Given the description of an element on the screen output the (x, y) to click on. 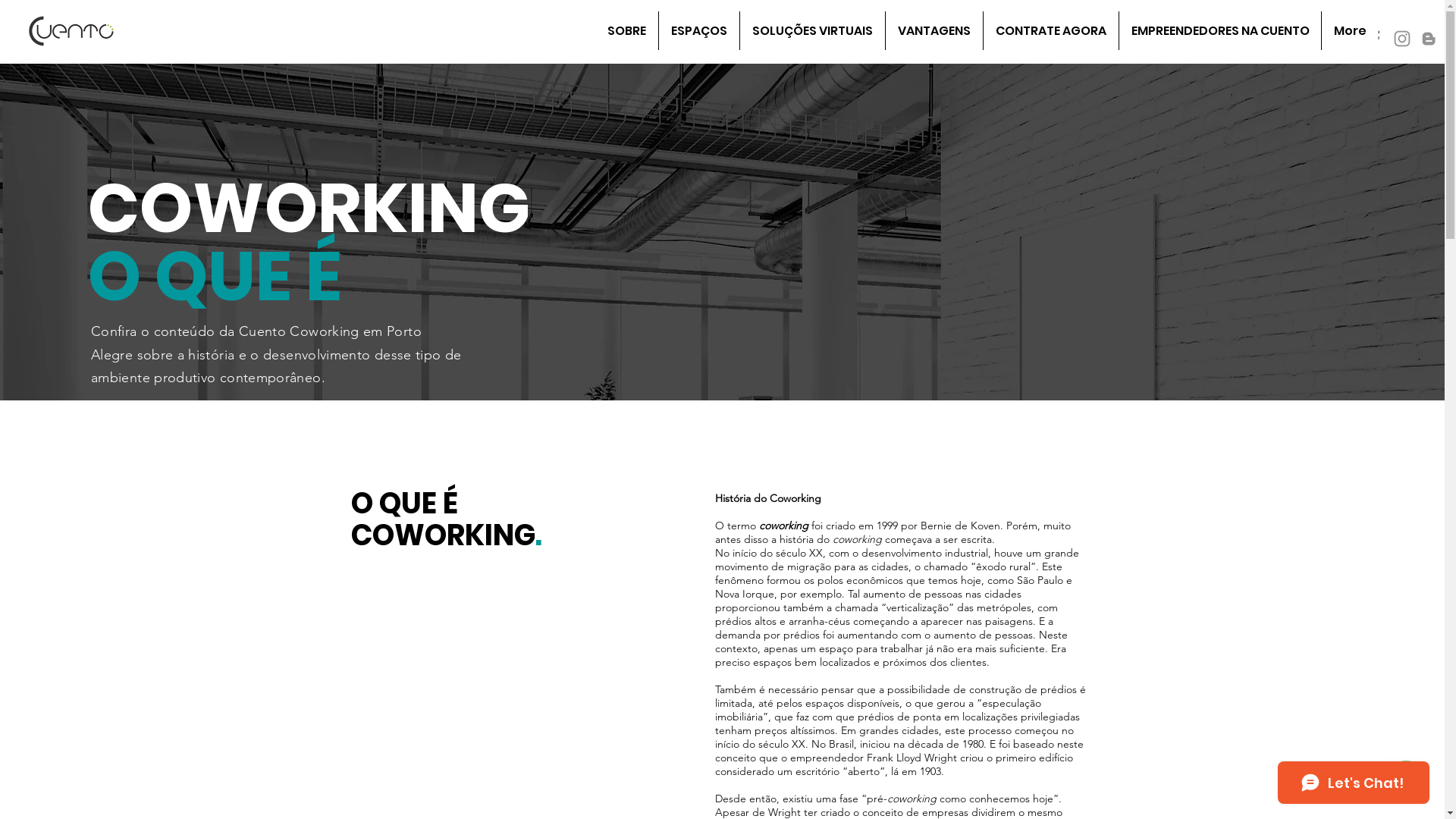
EMPREENDEDORES NA CUENTO Element type: text (1219, 30)
CONTRATE AGORA Element type: text (1050, 30)
VANTAGENS Element type: text (933, 30)
